Given the description of an element on the screen output the (x, y) to click on. 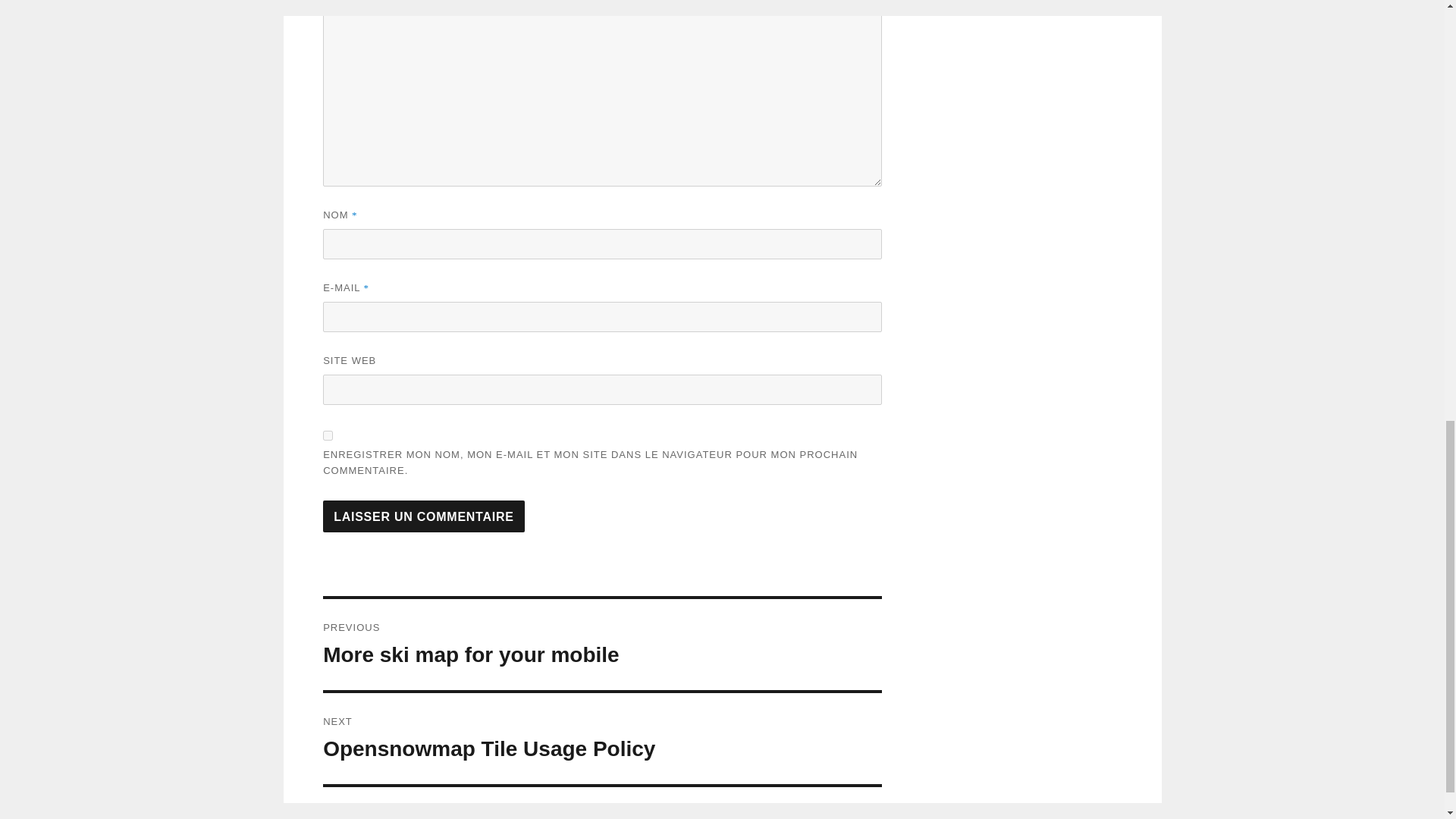
Laisser un commentaire (602, 737)
yes (602, 644)
Laisser un commentaire (423, 516)
